Given the description of an element on the screen output the (x, y) to click on. 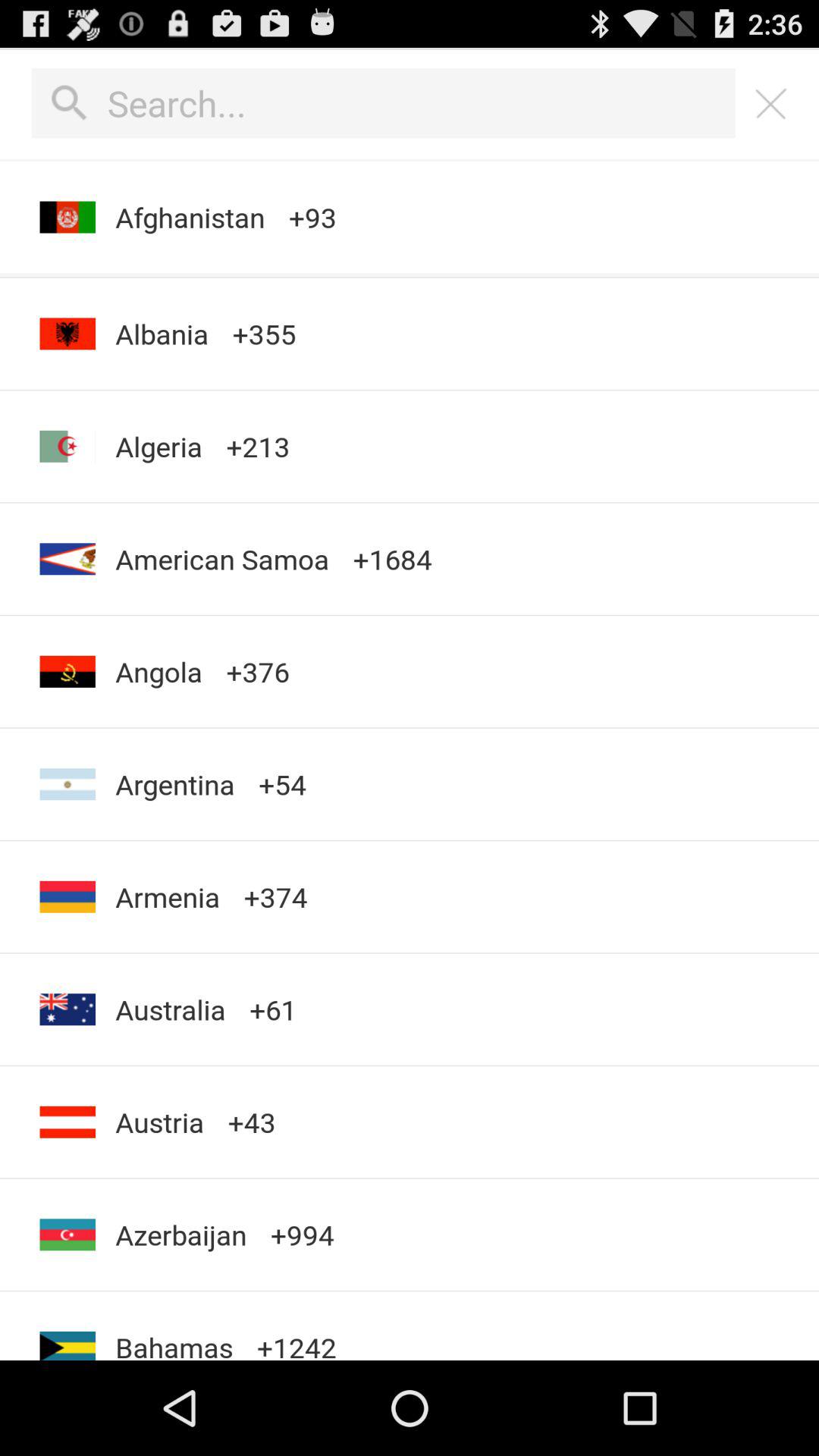
perform a search (383, 103)
